Given the description of an element on the screen output the (x, y) to click on. 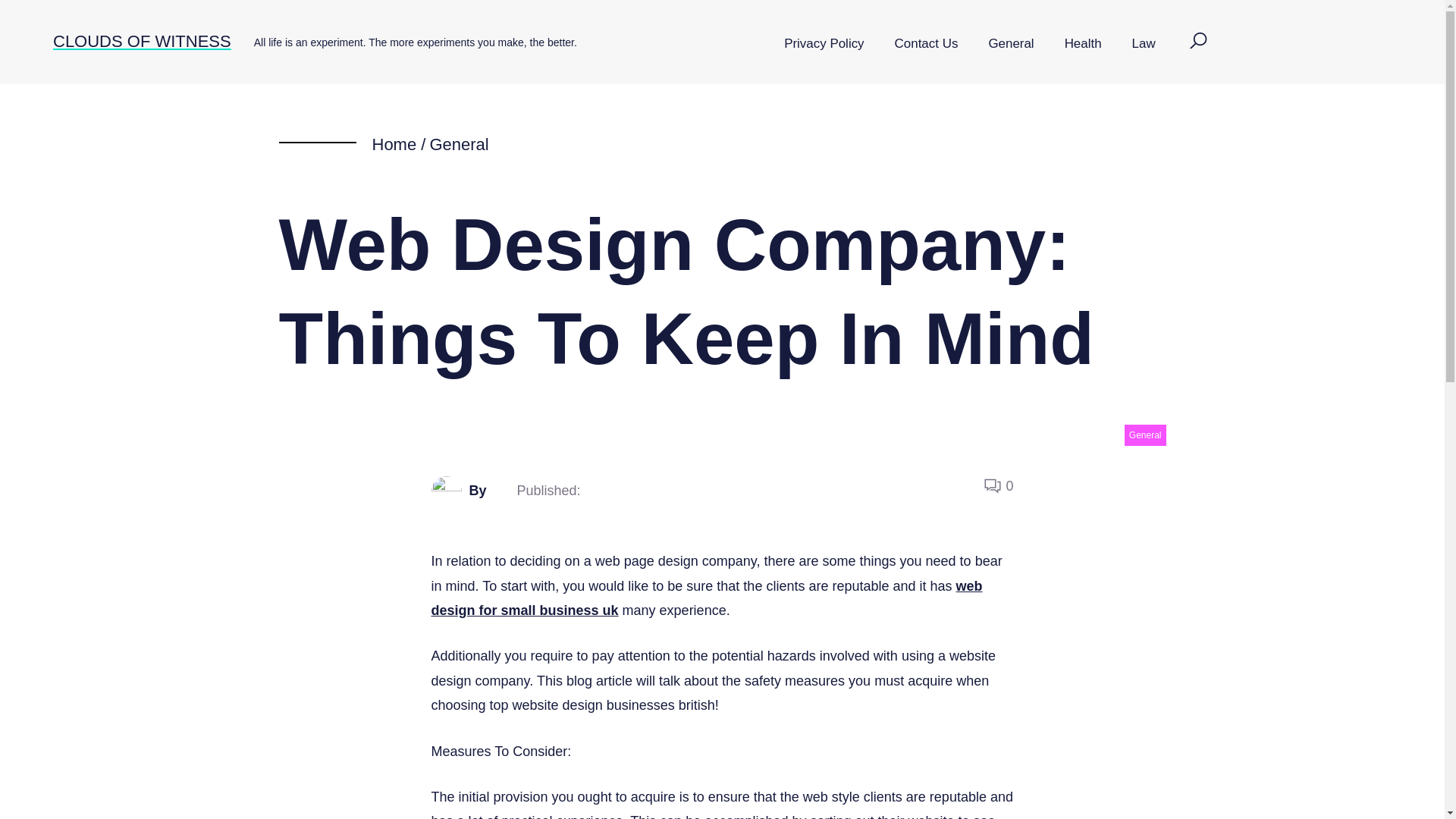
General (458, 144)
web design for small business uk (705, 598)
Contact Us (926, 43)
Privacy Policy (823, 43)
General (1010, 43)
Home (393, 144)
Health (1082, 43)
General (1145, 435)
CLOUDS OF WITNESS (141, 40)
